Given the description of an element on the screen output the (x, y) to click on. 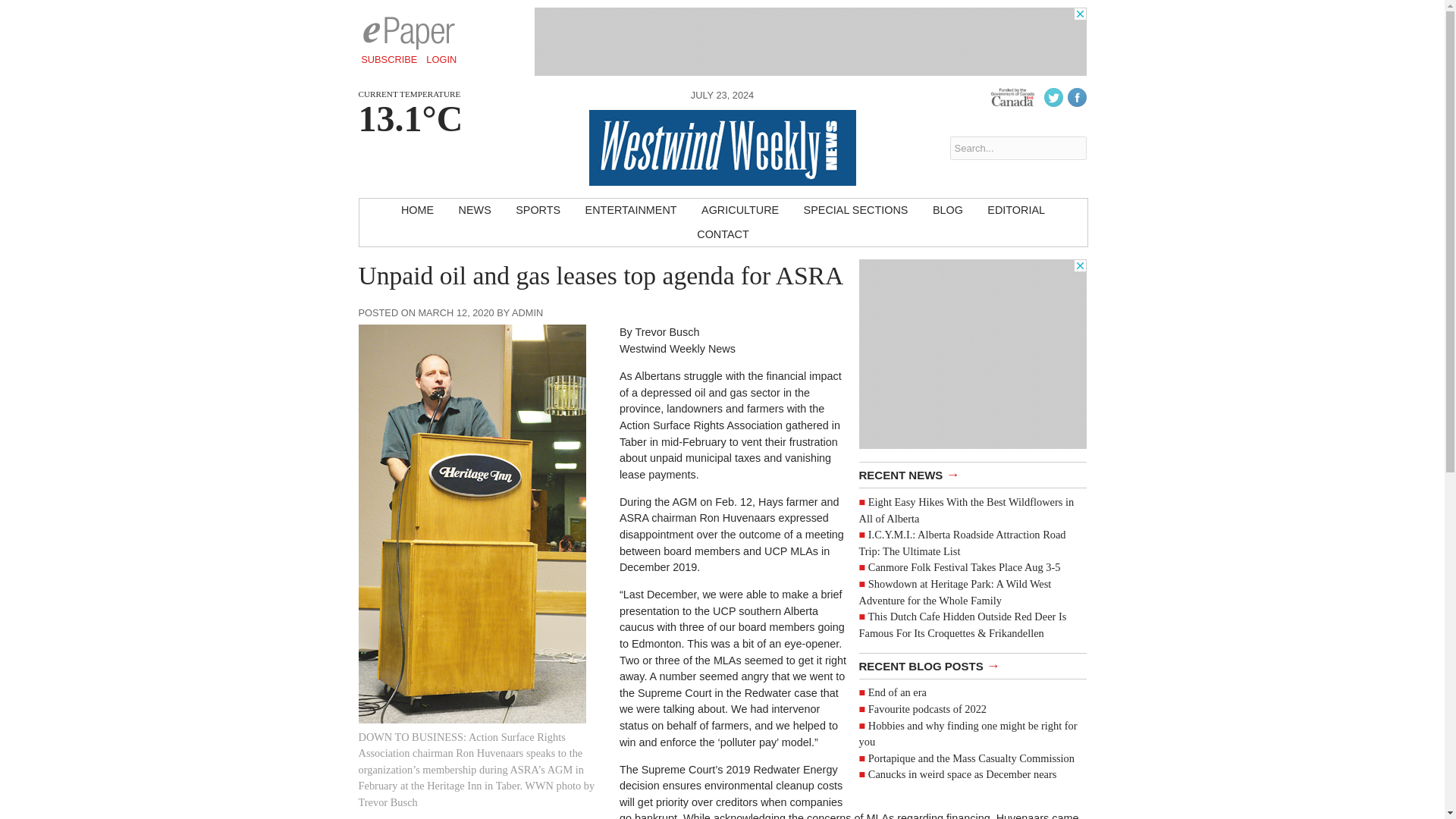
Portapique and the Mass Casualty Commission (970, 758)
3rd party ad content (810, 41)
3rd party ad content (972, 353)
AGRICULTURE (739, 210)
Canmore Folk Festival Takes Place Aug 3-5 (964, 567)
SPORTS (537, 210)
End of an era (896, 692)
Canucks in weird space as December nears (962, 774)
ENTERTAINMENT (631, 210)
SUBSCRIBE (389, 58)
Eight Easy Hikes With the Best Wildflowers in All of Alberta (966, 510)
BLOG (947, 210)
NEWS (475, 210)
